Given the description of an element on the screen output the (x, y) to click on. 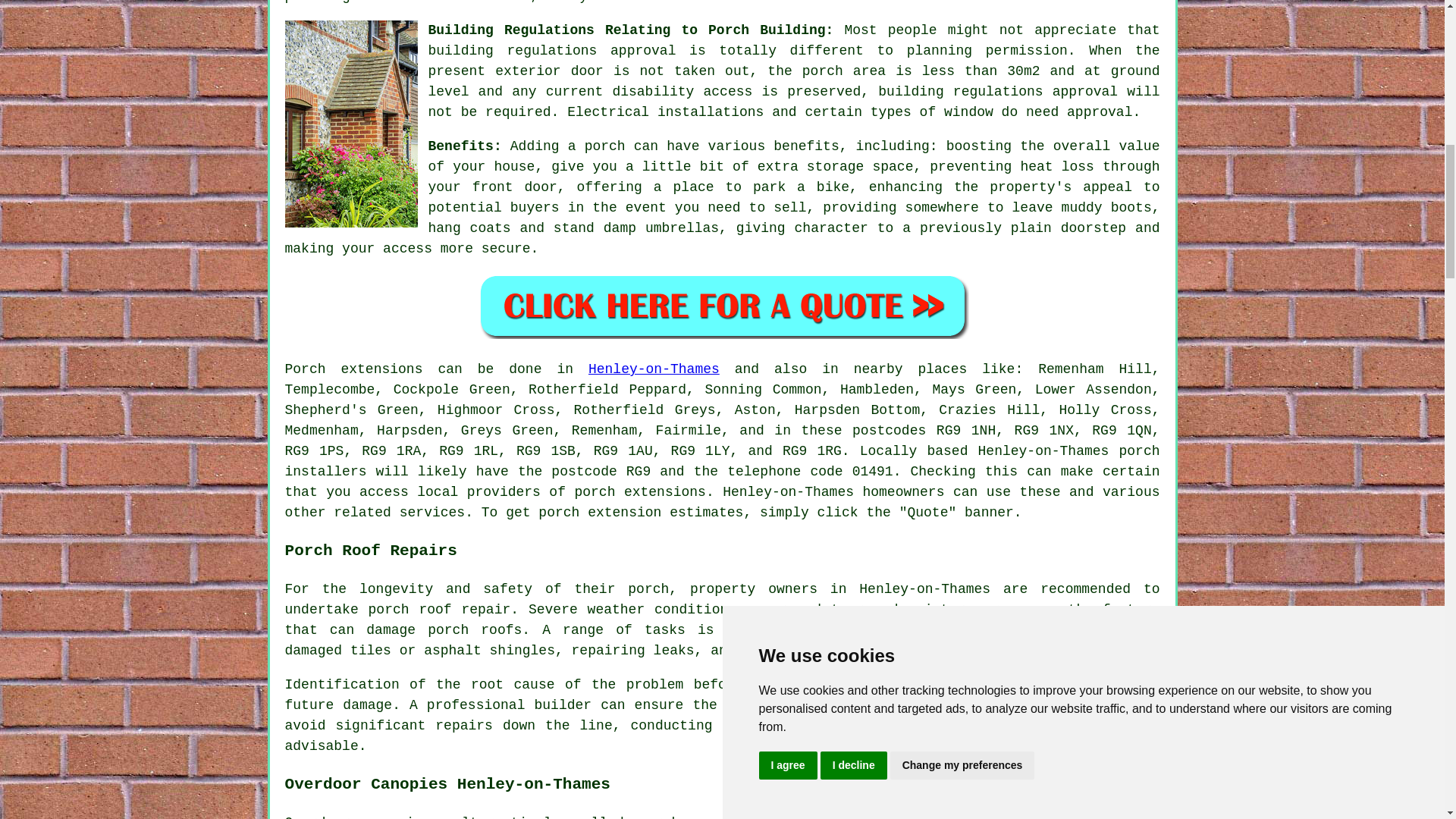
repair work (909, 684)
Porch (305, 368)
porch roof repair (439, 609)
porch extensions (638, 491)
Click For Porches in Henley-on-Thames (722, 305)
porch installers (722, 461)
canopies (727, 816)
